Given the description of an element on the screen output the (x, y) to click on. 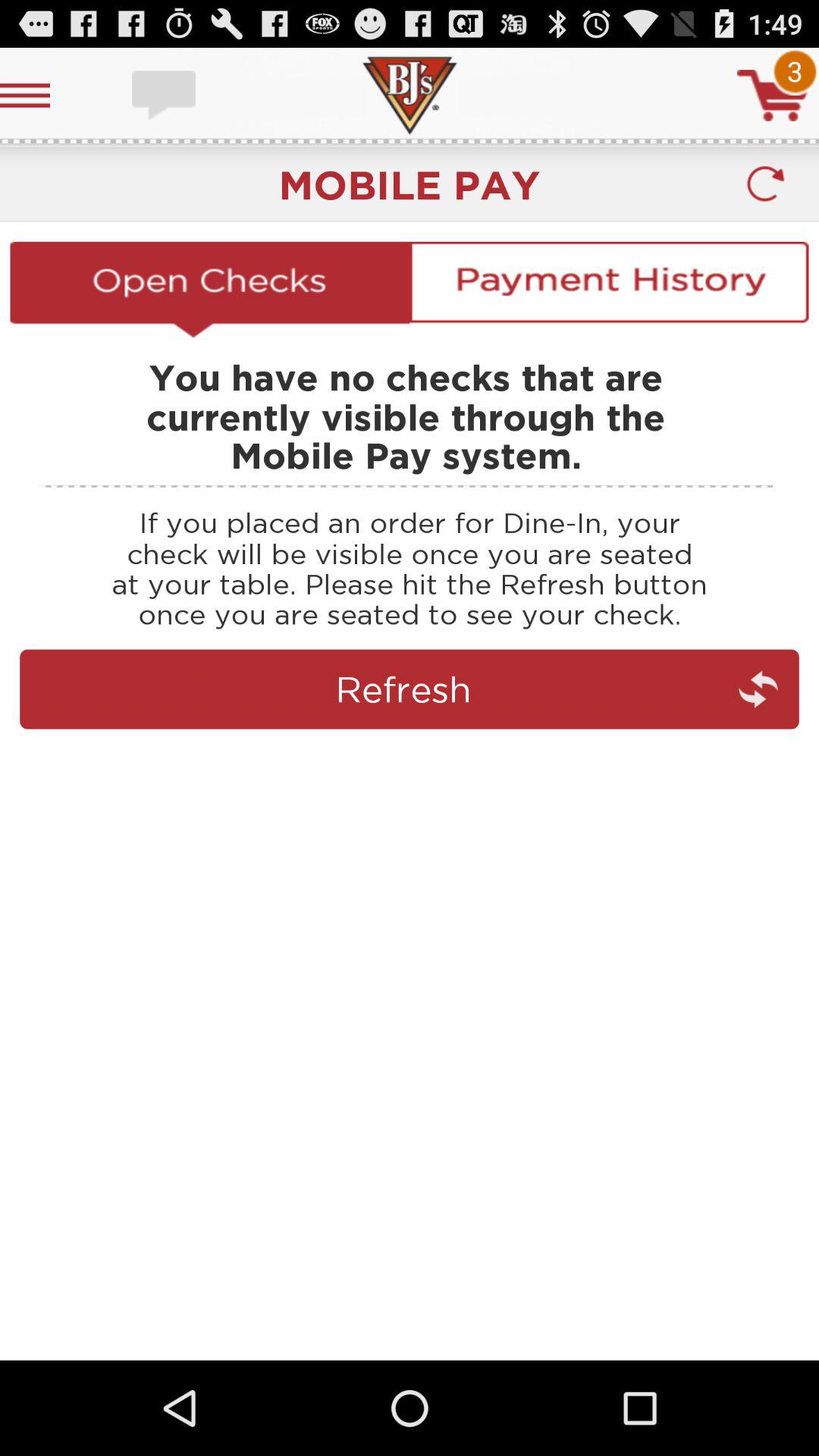
view cart (772, 95)
